Given the description of an element on the screen output the (x, y) to click on. 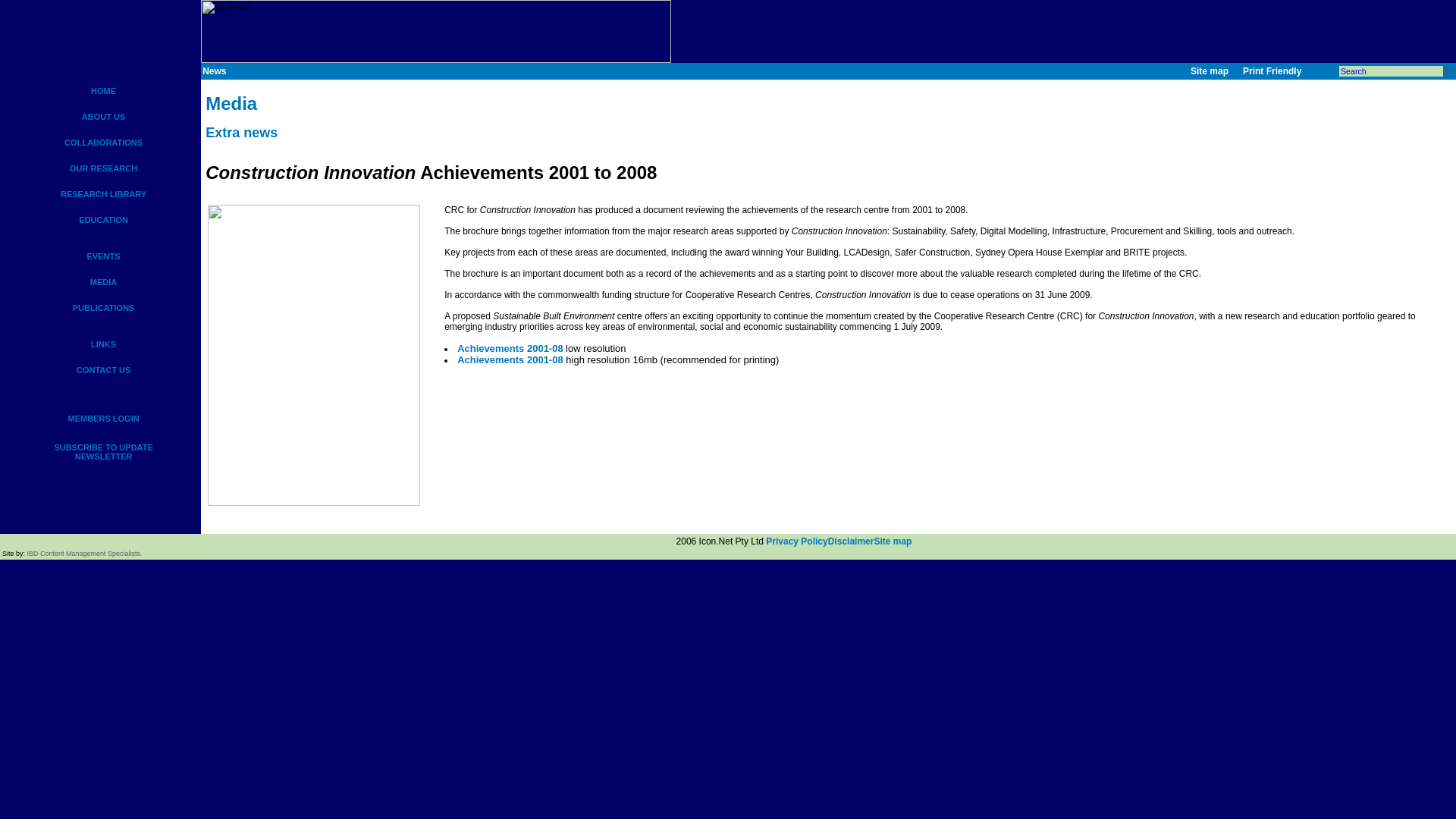
LINKS (103, 343)
COLLABORATIONS (103, 142)
RESEARCH LIBRARY (104, 194)
Click to search CRC for Construction-Innovation (1448, 70)
Media (231, 106)
Privacy Policy (796, 541)
Achievements 2001-08 (509, 359)
EDUCATION (103, 219)
Site map (892, 541)
Achievements 2001-08 (509, 348)
